Given the description of an element on the screen output the (x, y) to click on. 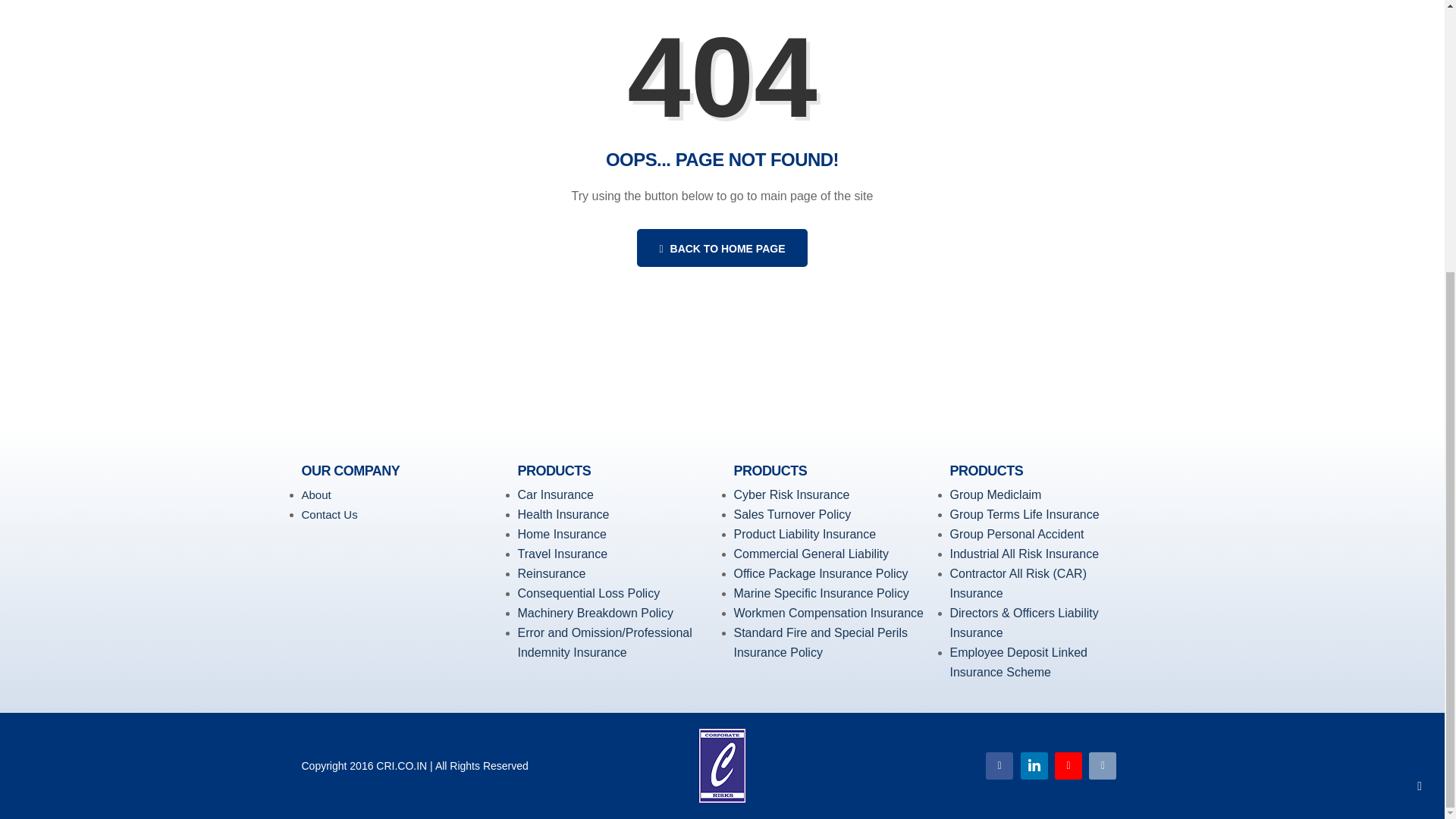
About (316, 494)
CRI.CO.IN (400, 766)
BACK TO HOME PAGE (722, 247)
Contact Us (329, 513)
